Given the description of an element on the screen output the (x, y) to click on. 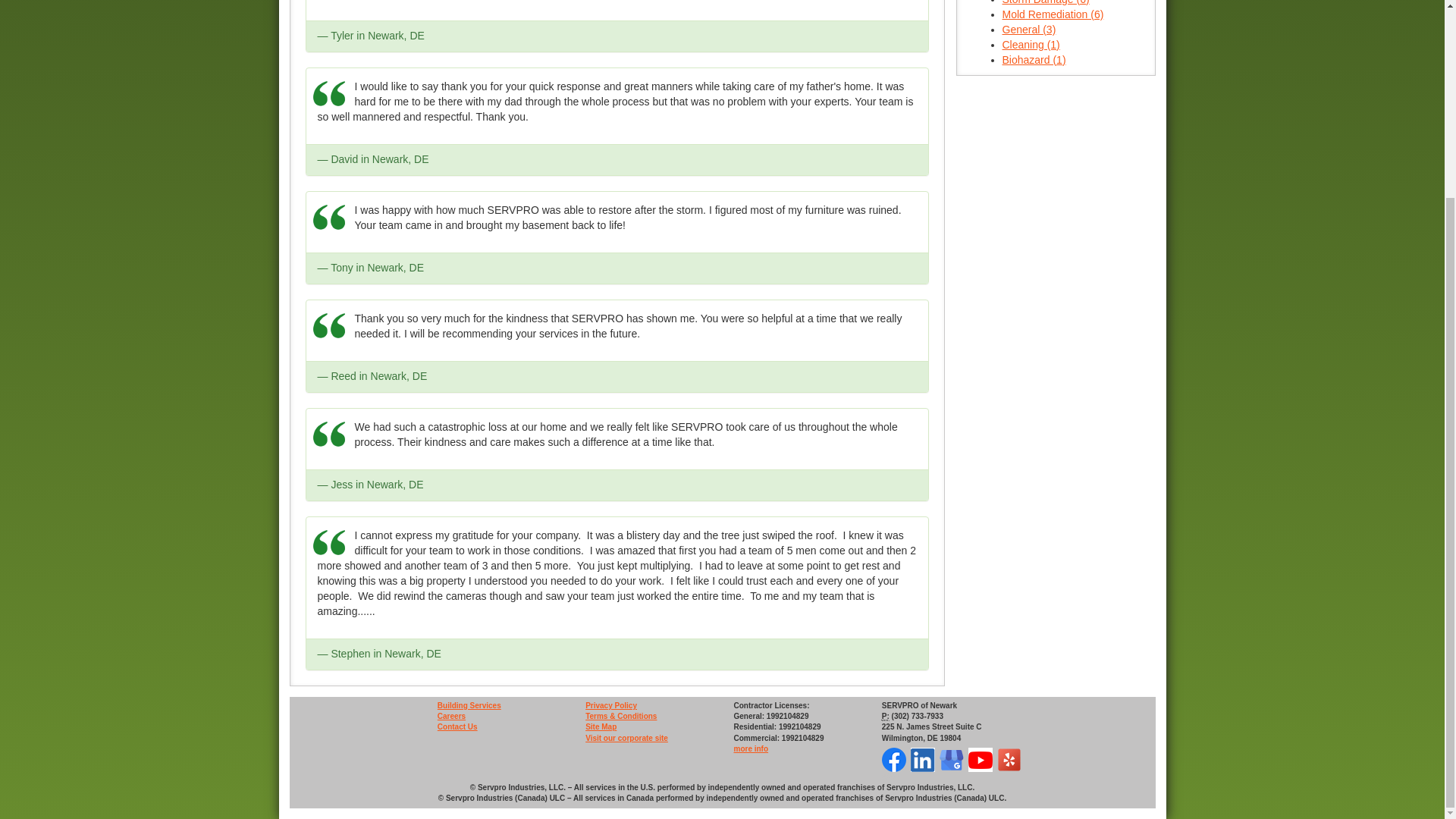
Phone (885, 716)
